Given the description of an element on the screen output the (x, y) to click on. 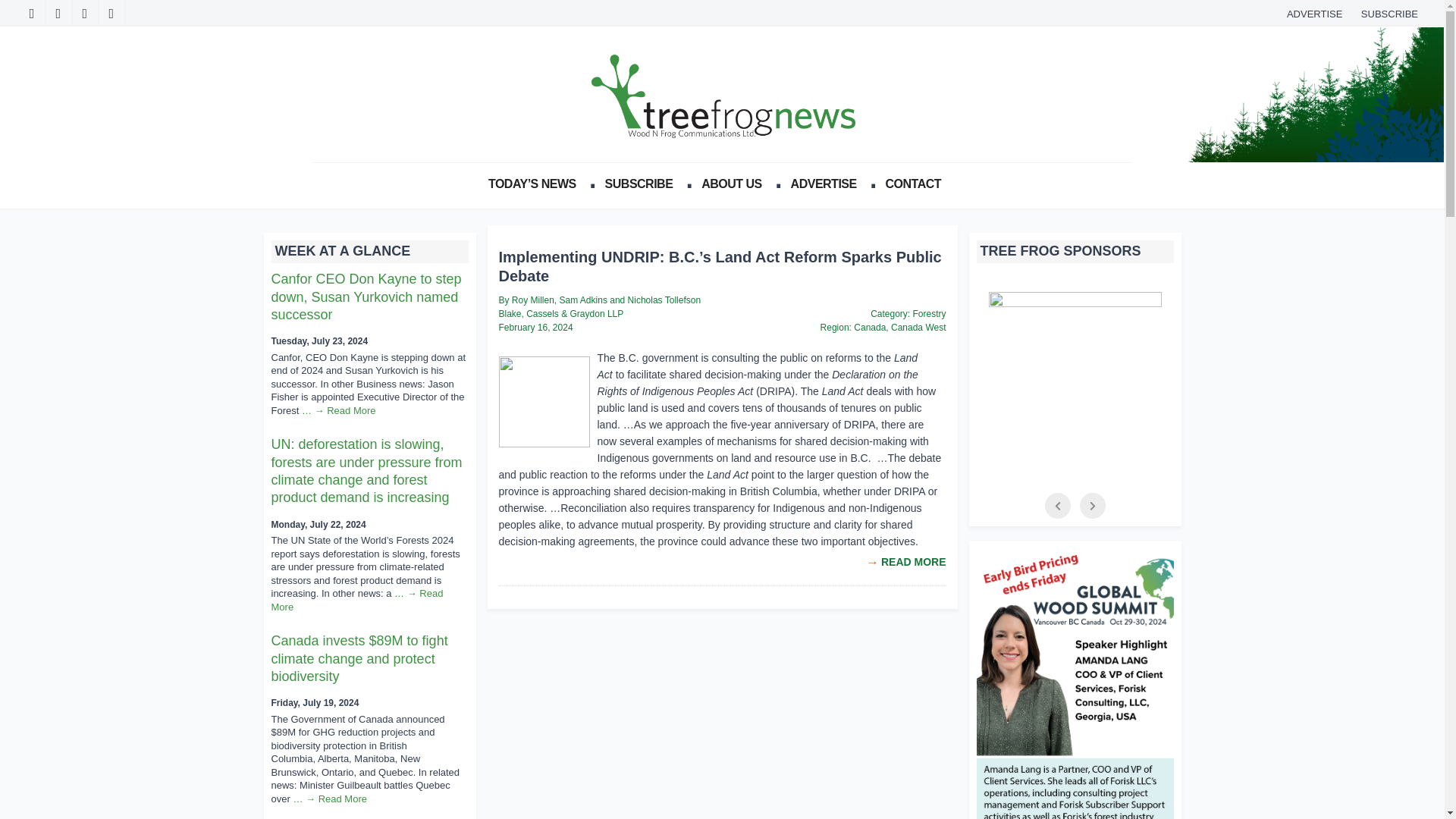
ADVERTISE (1314, 13)
ABOUT US (735, 183)
CONTACT (917, 183)
SUBSCRIBE (1389, 13)
ADVERTISE (827, 183)
SUBSCRIBE (643, 183)
READ MORE (913, 562)
